Given the description of an element on the screen output the (x, y) to click on. 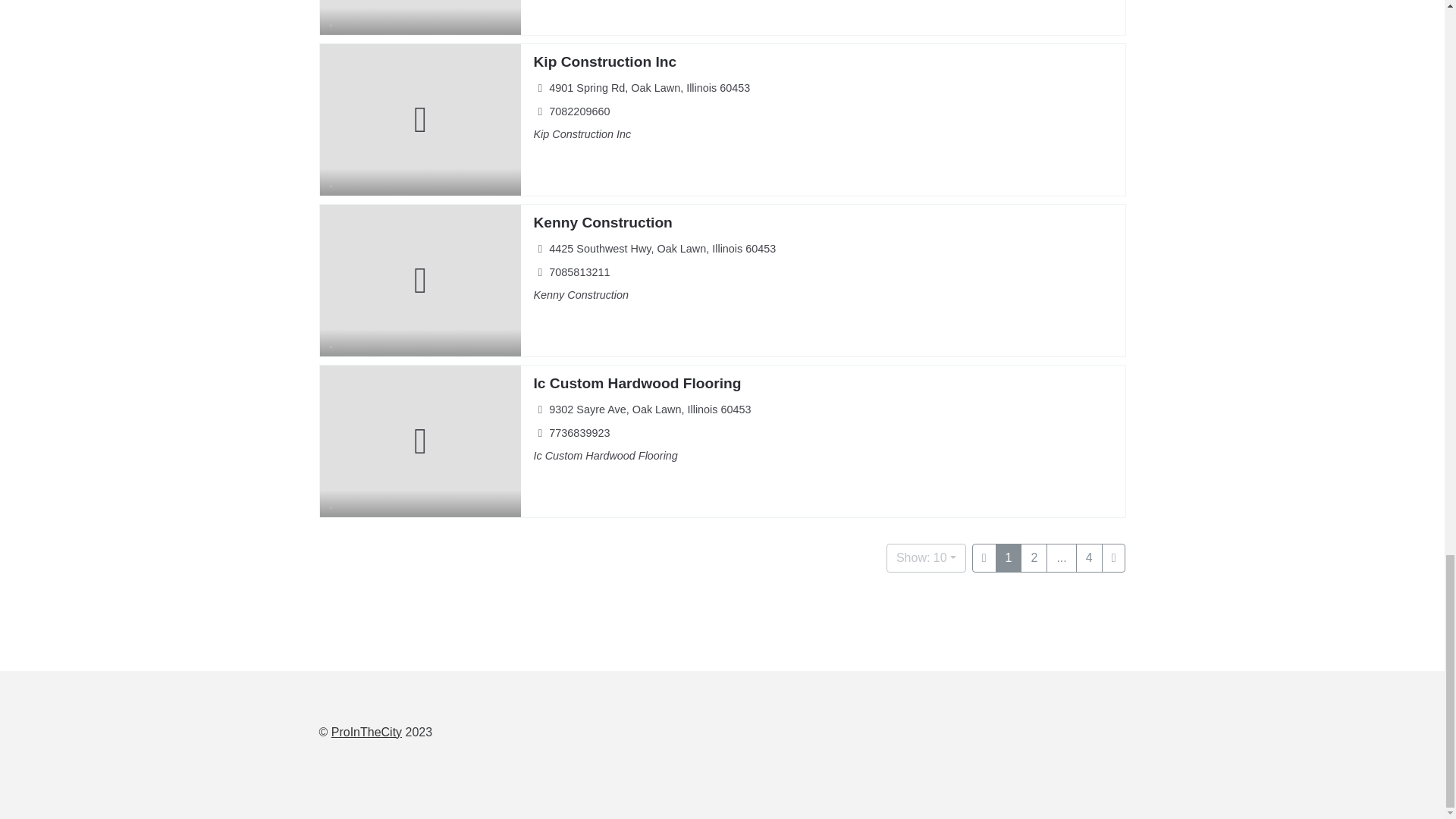
Kip Construction Inc (604, 61)
